Given the description of an element on the screen output the (x, y) to click on. 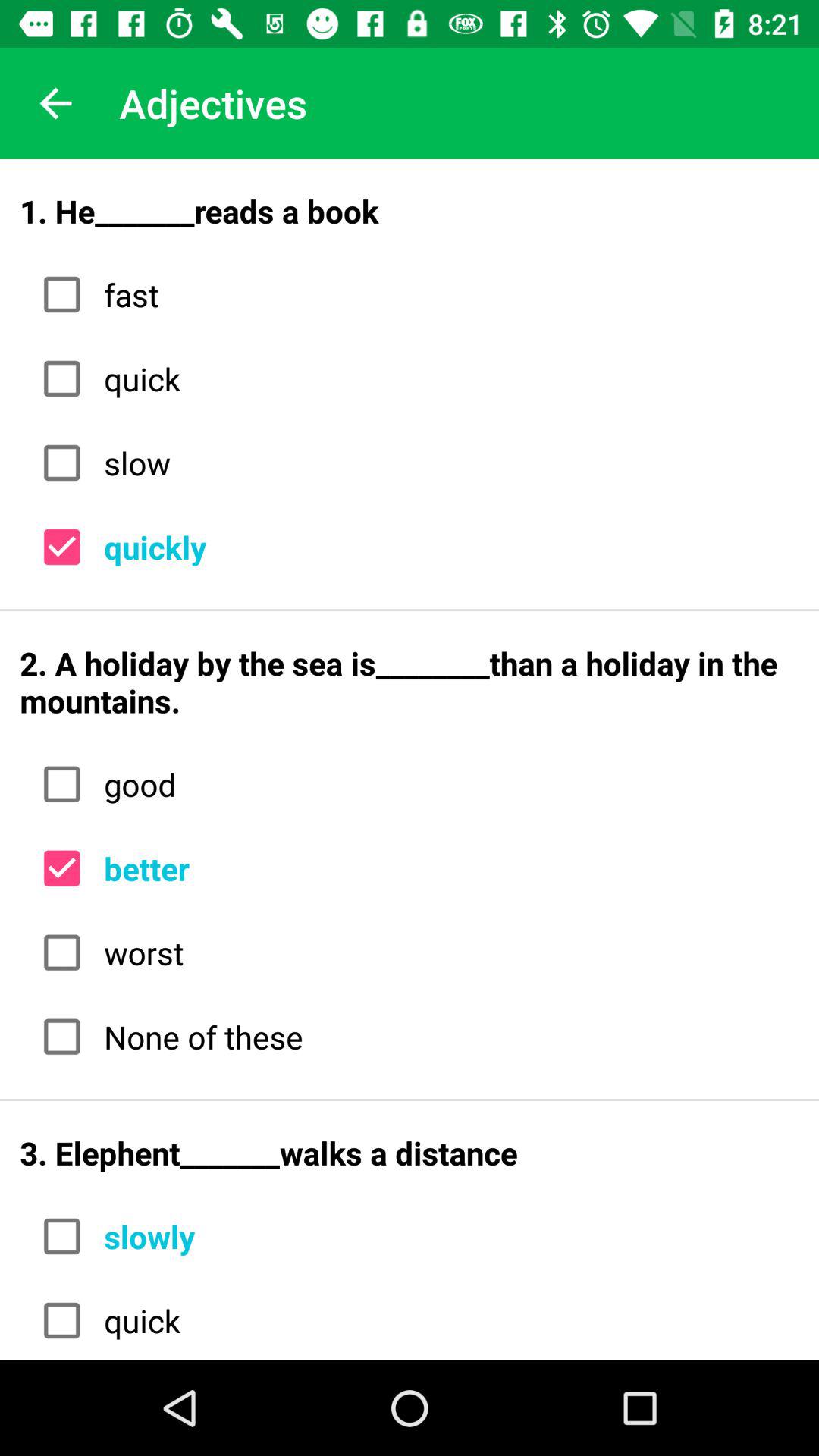
scroll to good item (446, 783)
